Given the description of an element on the screen output the (x, y) to click on. 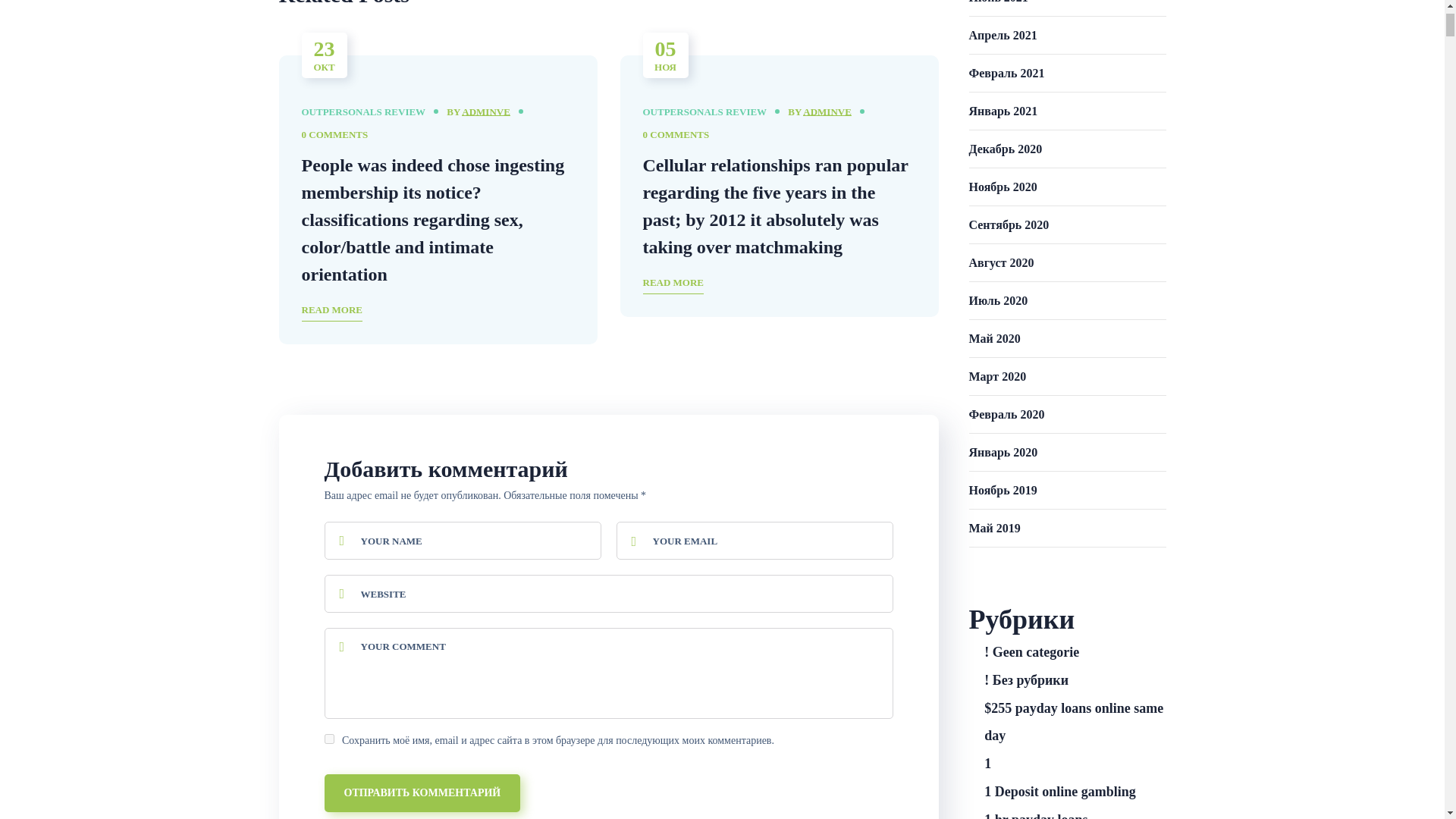
YOUR EMAIL (753, 540)
ADMINVE (486, 111)
OUTPERSONALS REVIEW (705, 111)
yes (329, 738)
0 COMMENTS (676, 134)
YOUR NAME (462, 540)
ADMINVE (827, 111)
0 COMMENTS (334, 134)
Leave a reply (334, 134)
WEBSITE (608, 593)
OUTPERSONALS REVIEW (363, 111)
READ MORE (673, 283)
READ MORE (331, 311)
Leave a reply (676, 134)
